Given the description of an element on the screen output the (x, y) to click on. 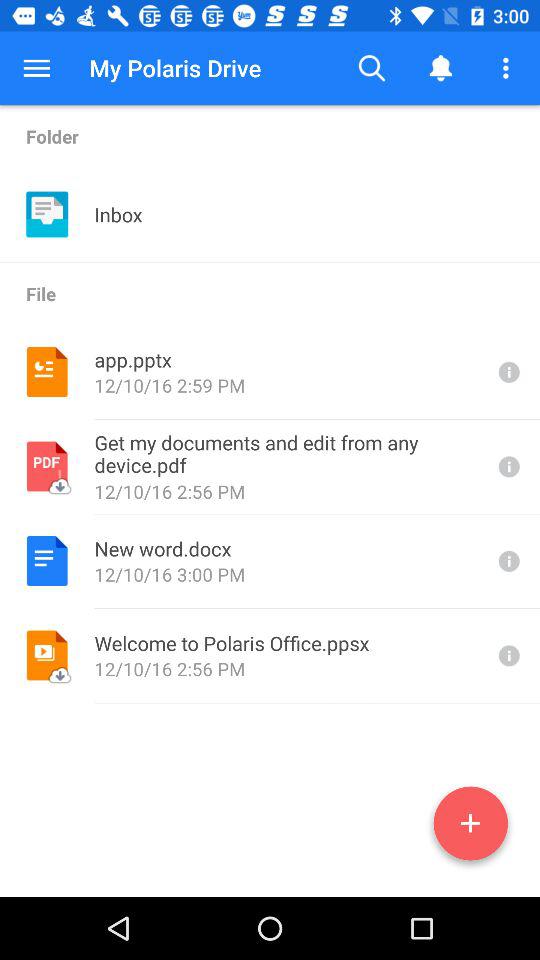
view file details (507, 560)
